Given the description of an element on the screen output the (x, y) to click on. 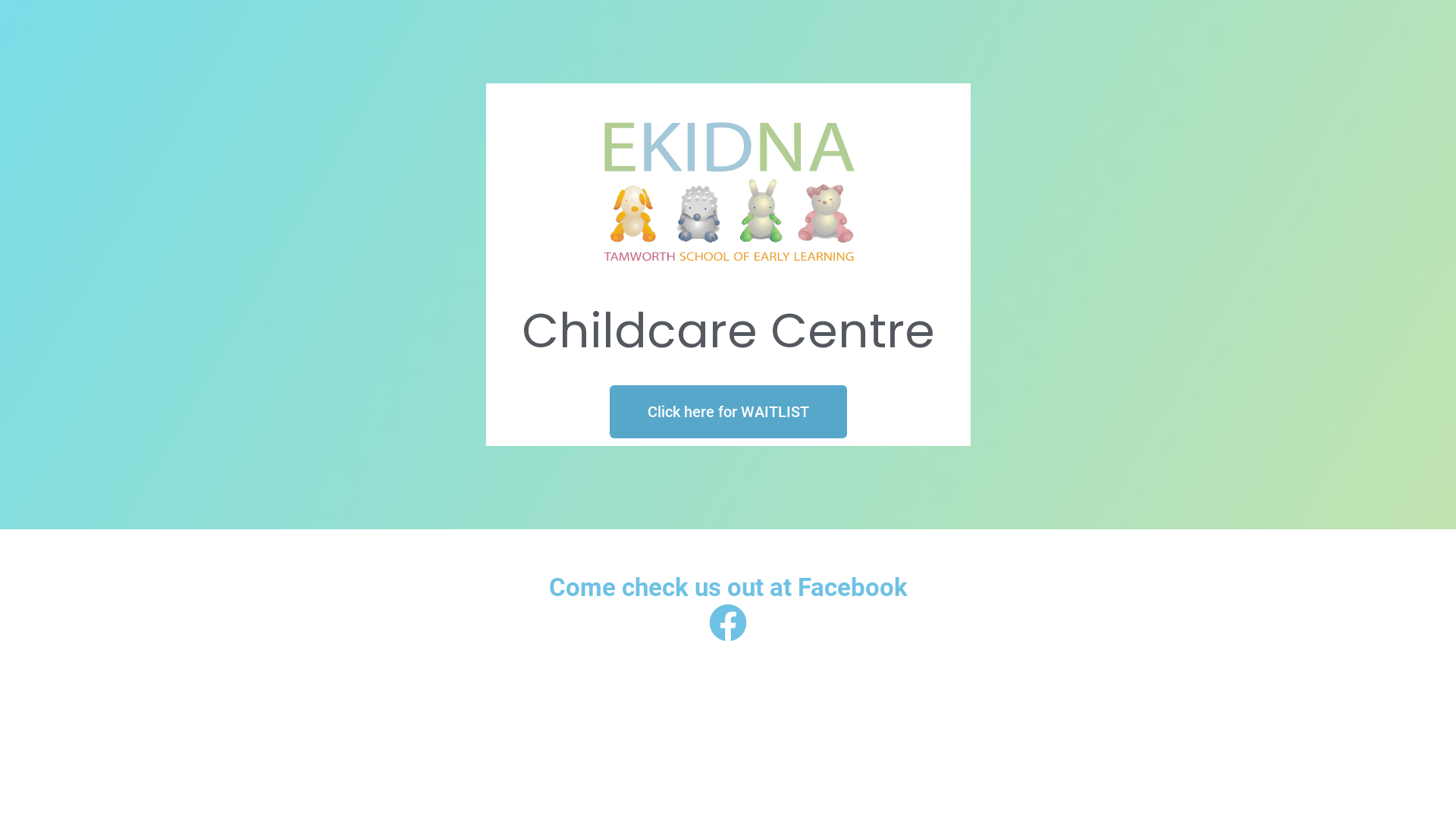
Click here for WAITLIST Element type: text (728, 411)
